Given the description of an element on the screen output the (x, y) to click on. 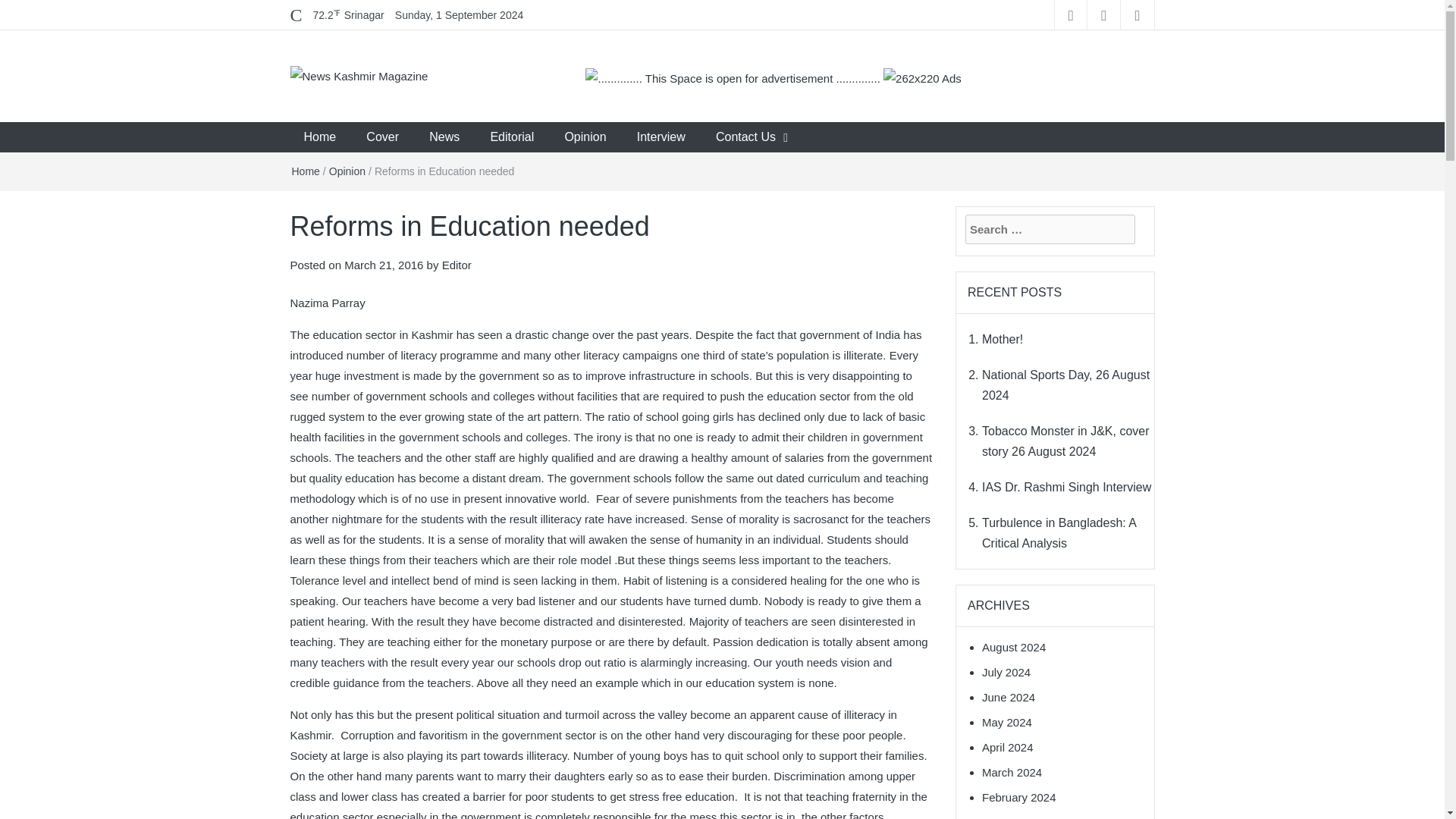
Editorial (511, 137)
Clear (348, 14)
News Kashmir Magazine (431, 127)
Interview (660, 137)
Cover (382, 137)
Editor (456, 264)
Contact Us (745, 137)
Opinion (585, 137)
Home (304, 171)
Opinion (347, 171)
